Given the description of an element on the screen output the (x, y) to click on. 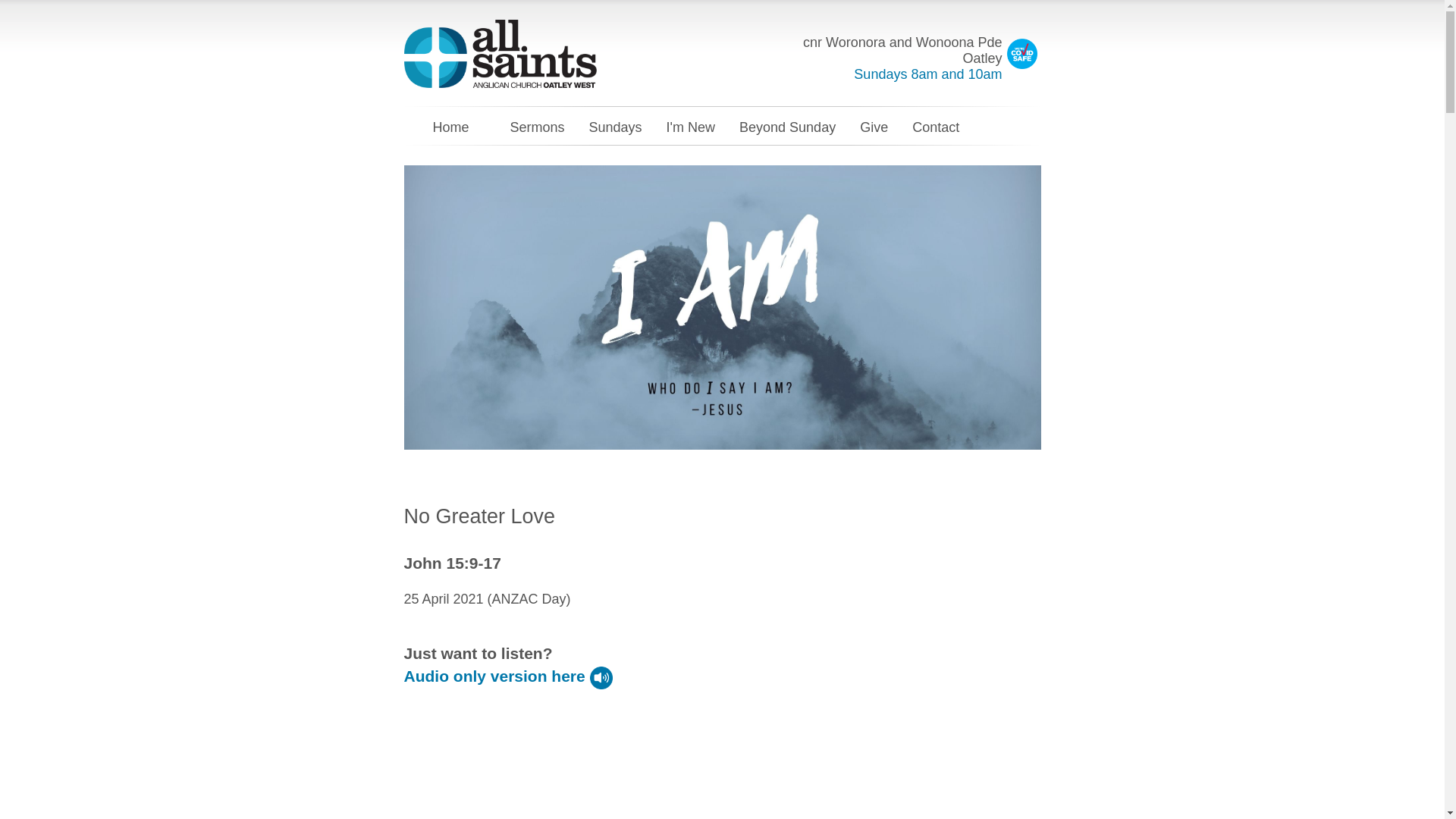
Sundays 8am and 10am Element type: text (927, 73)
I'm New Element type: text (690, 127)
Beyond Sunday Element type: text (787, 127)
Contact Element type: text (935, 127)
Sundays Element type: text (615, 127)
Home Element type: text (450, 127)
Give Element type: text (873, 127)
Audio only version here Element type: text (507, 675)
Sermons Element type: text (536, 127)
